Given the description of an element on the screen output the (x, y) to click on. 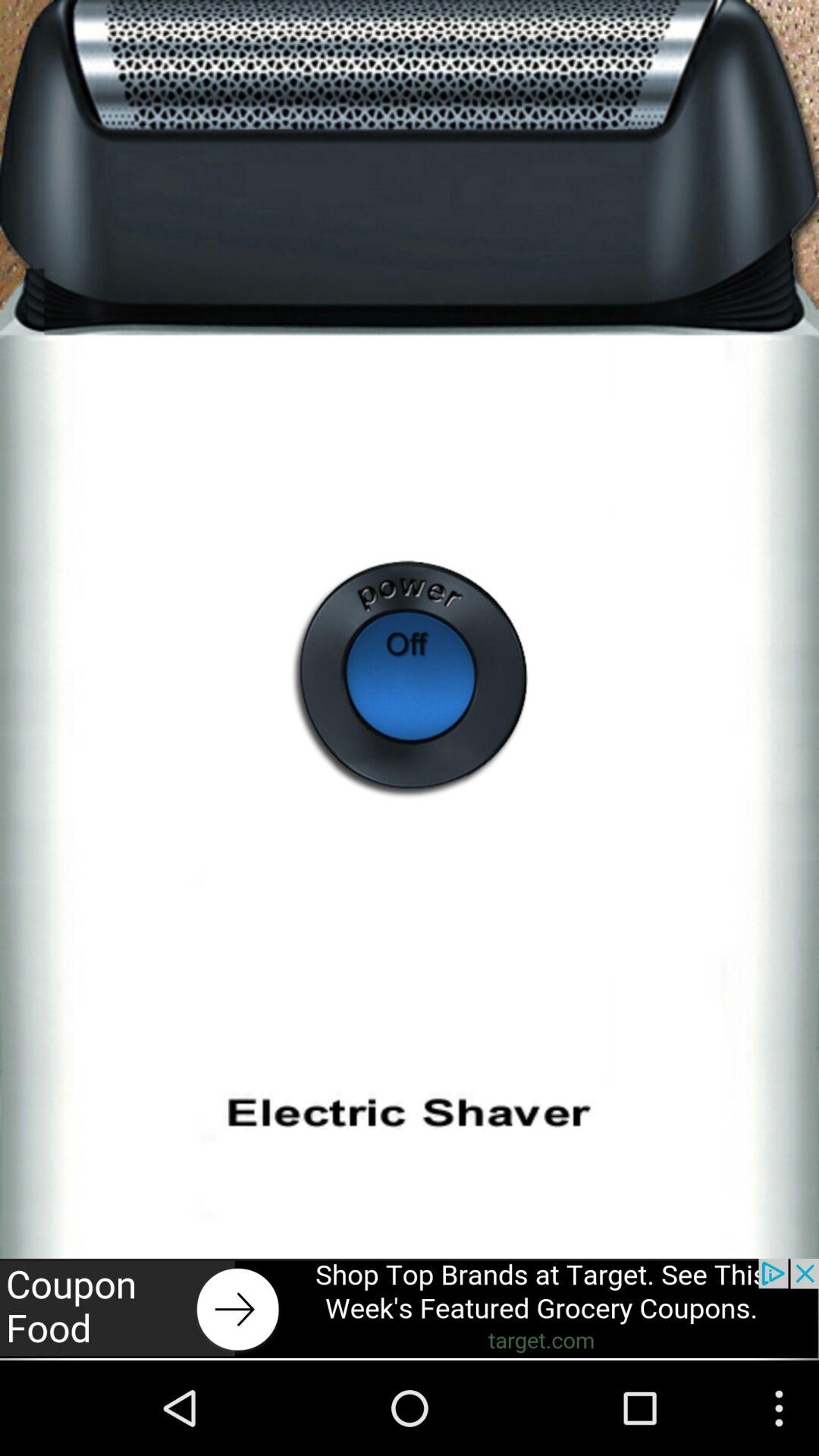
go to advertisement (409, 1308)
